Given the description of an element on the screen output the (x, y) to click on. 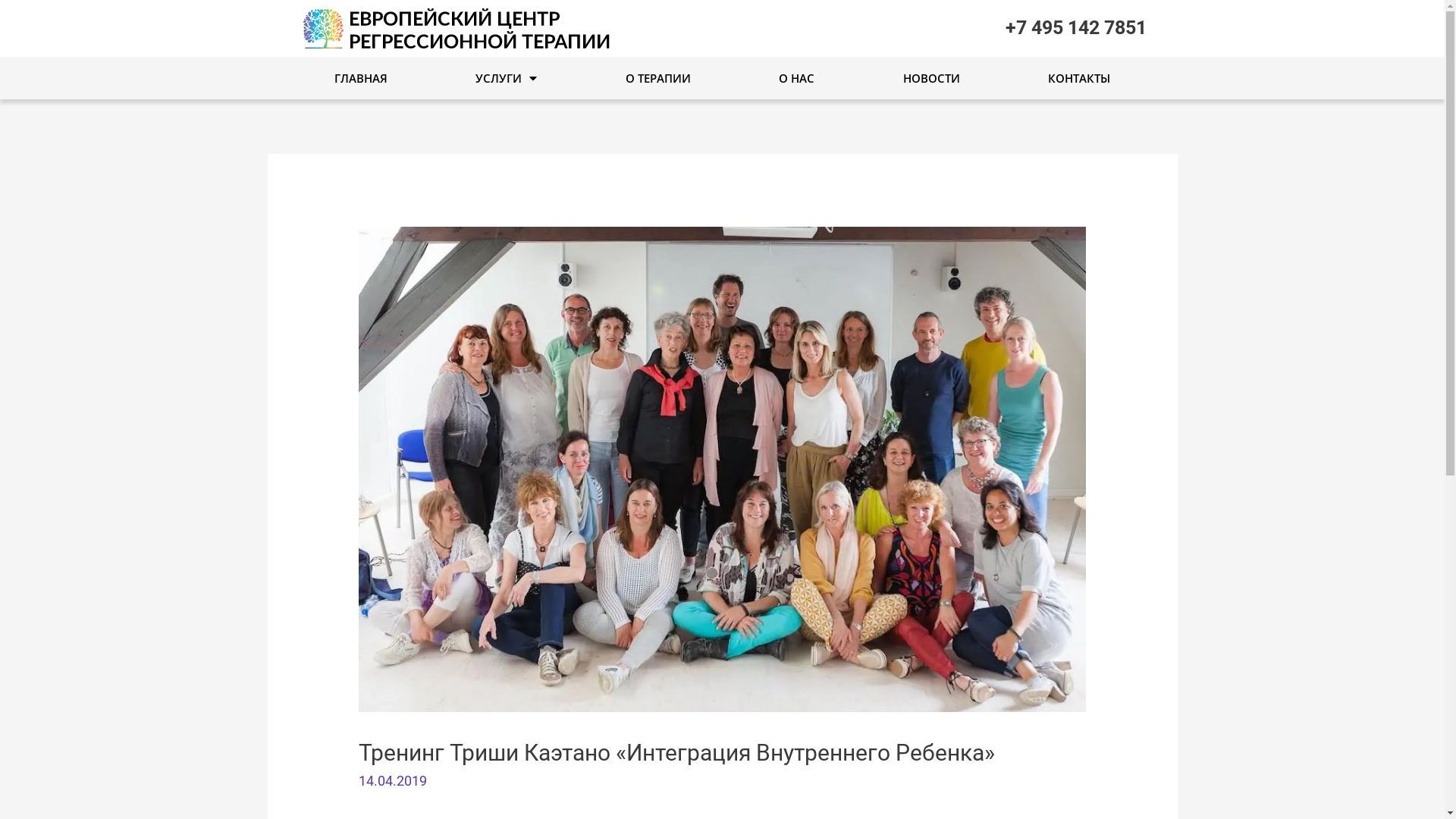
+7 495 142 7851 Element type: text (1075, 27)
